Given the description of an element on the screen output the (x, y) to click on. 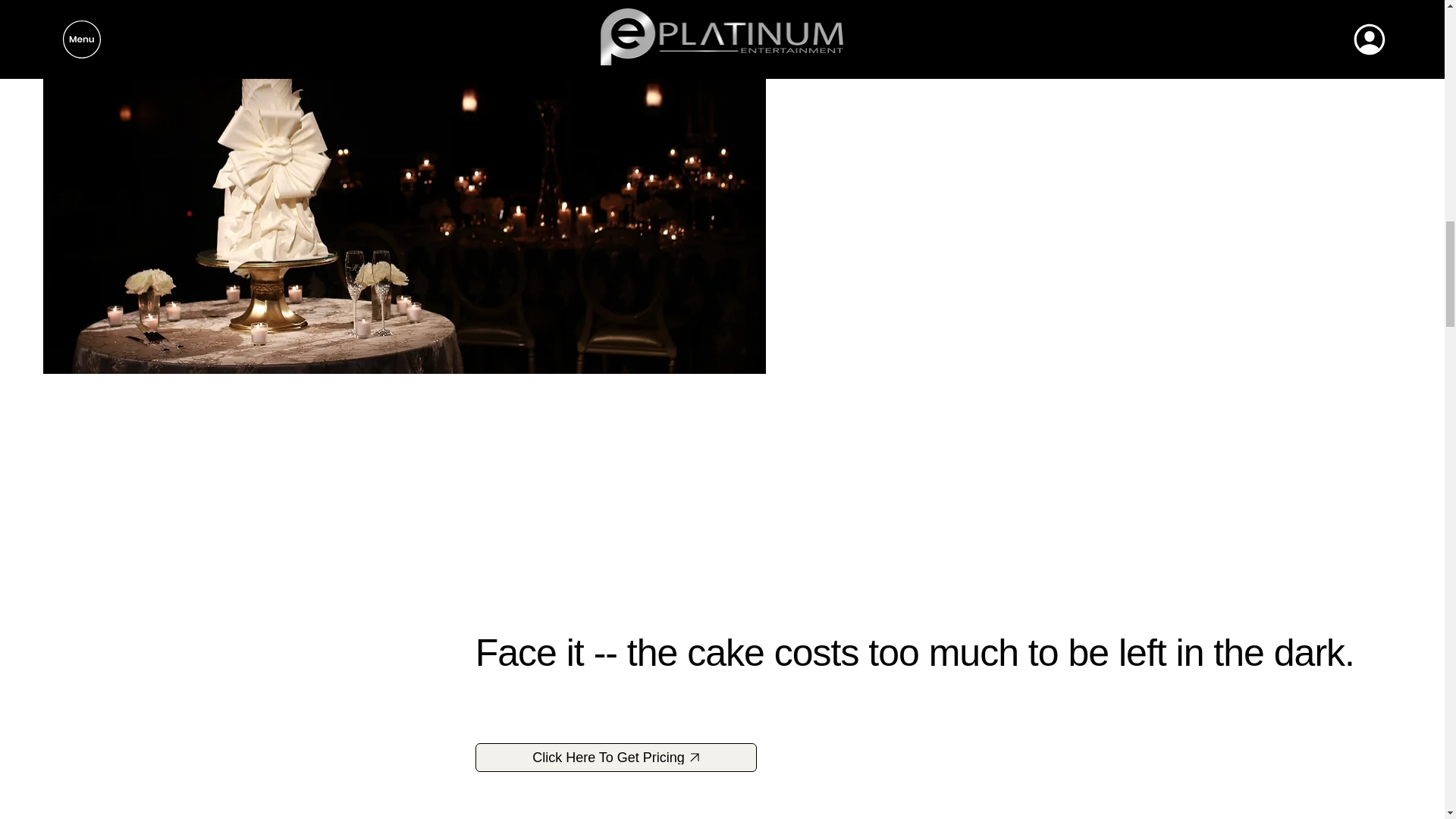
Click Here To Get Pricing (616, 757)
